Given the description of an element on the screen output the (x, y) to click on. 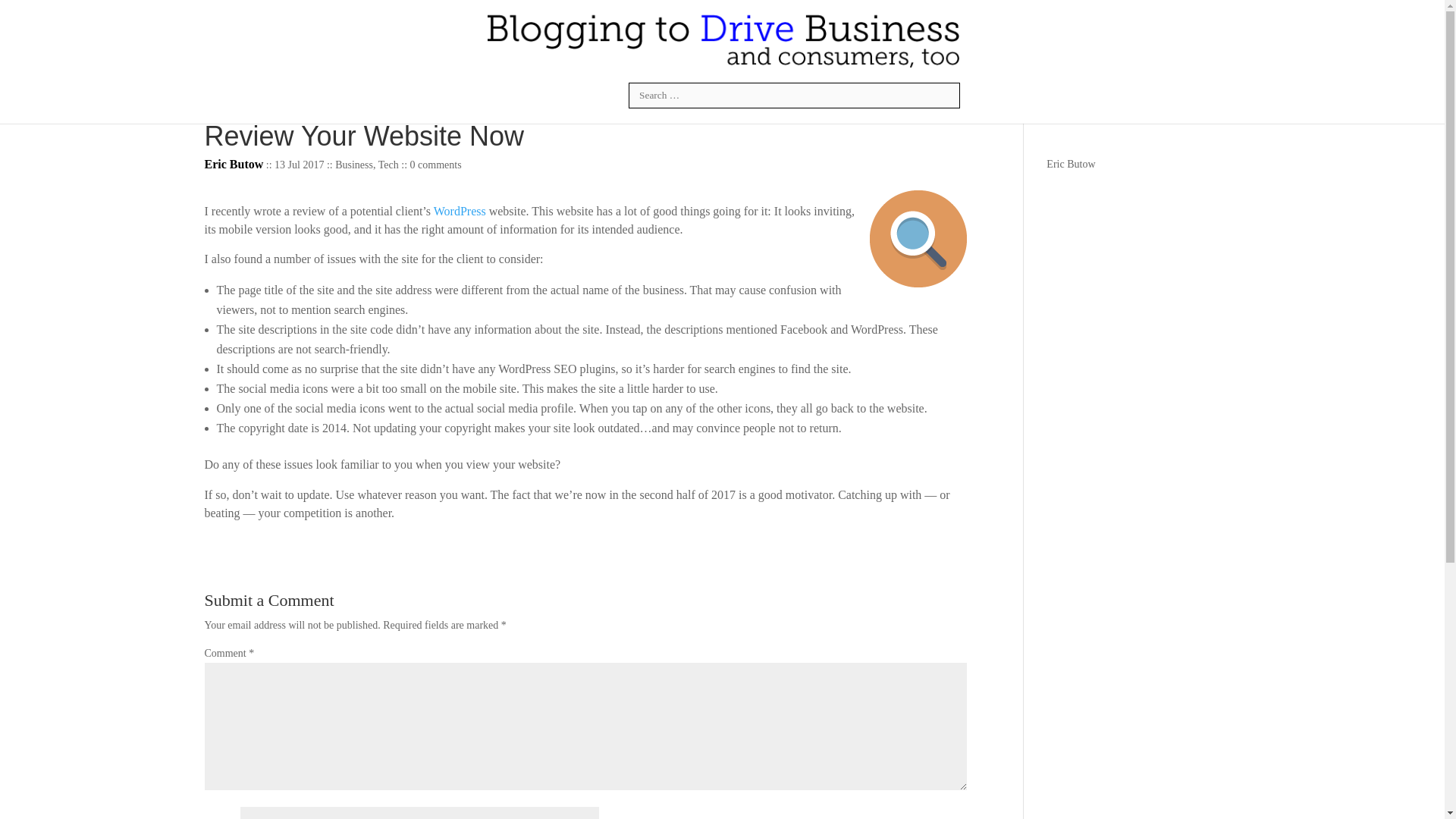
Twitter (572, 95)
Eric Butow (234, 164)
WordPress (461, 210)
Linkedin (535, 95)
Posts by Eric Butow (234, 164)
Eric Butow (1070, 163)
0 comments (435, 164)
Facebook (499, 95)
Google (608, 95)
Tech (388, 164)
